Given the description of an element on the screen output the (x, y) to click on. 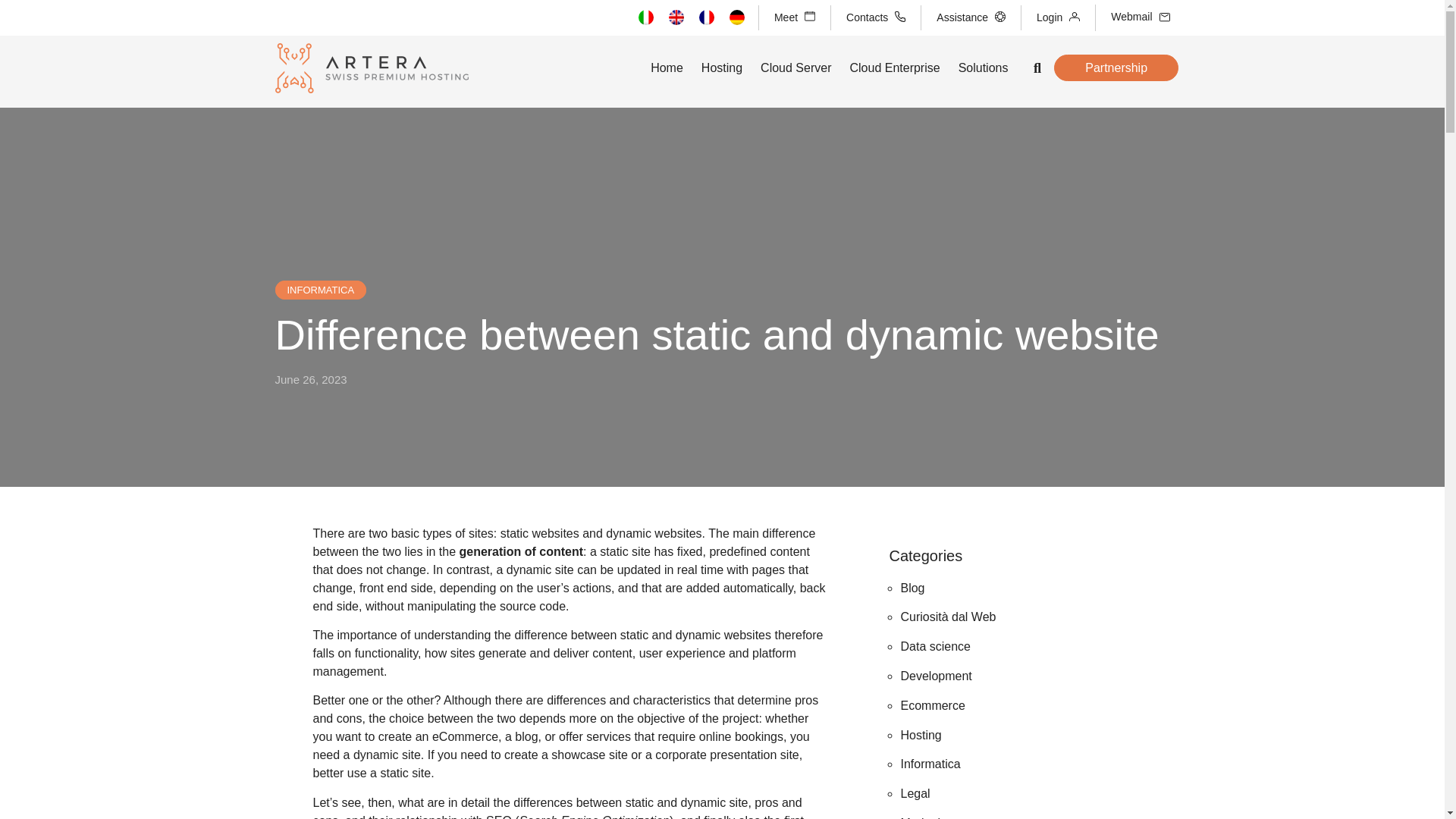
Legal (914, 793)
logo-artera-1 (371, 68)
Cloud Enterprise (893, 67)
Hosting (919, 735)
Hosting (722, 67)
Home (666, 67)
Login (1058, 17)
Ecommerce (931, 705)
Partnership (1115, 67)
Development (935, 675)
Cloud Server (795, 67)
Solutions (983, 67)
Webmail (1139, 17)
Contacts (875, 17)
Assistance (970, 17)
